Given the description of an element on the screen output the (x, y) to click on. 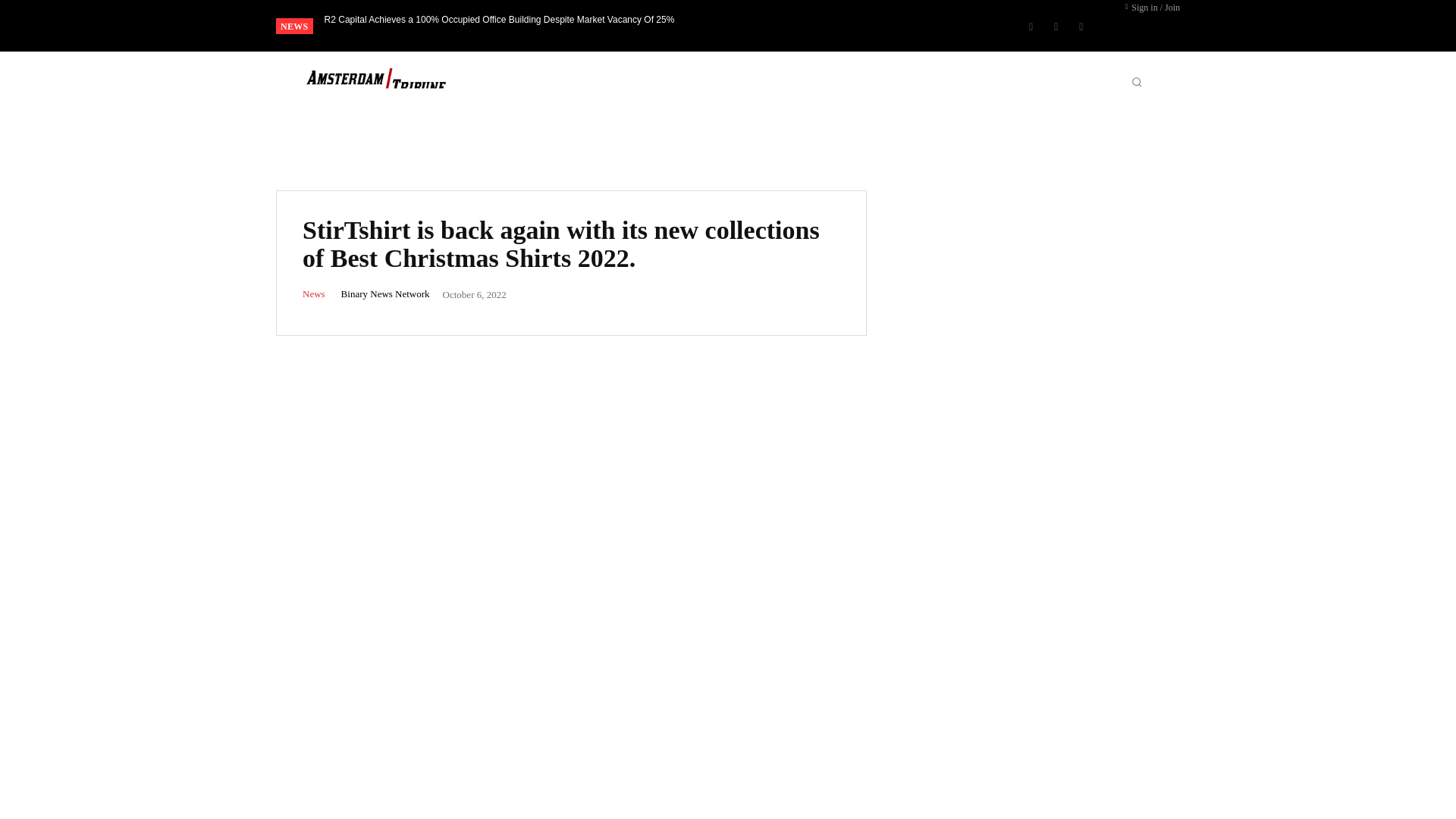
News (313, 293)
Binary News Network (384, 293)
Twitter (1081, 25)
Instagram (1056, 25)
Facebook (1031, 25)
